Given the description of an element on the screen output the (x, y) to click on. 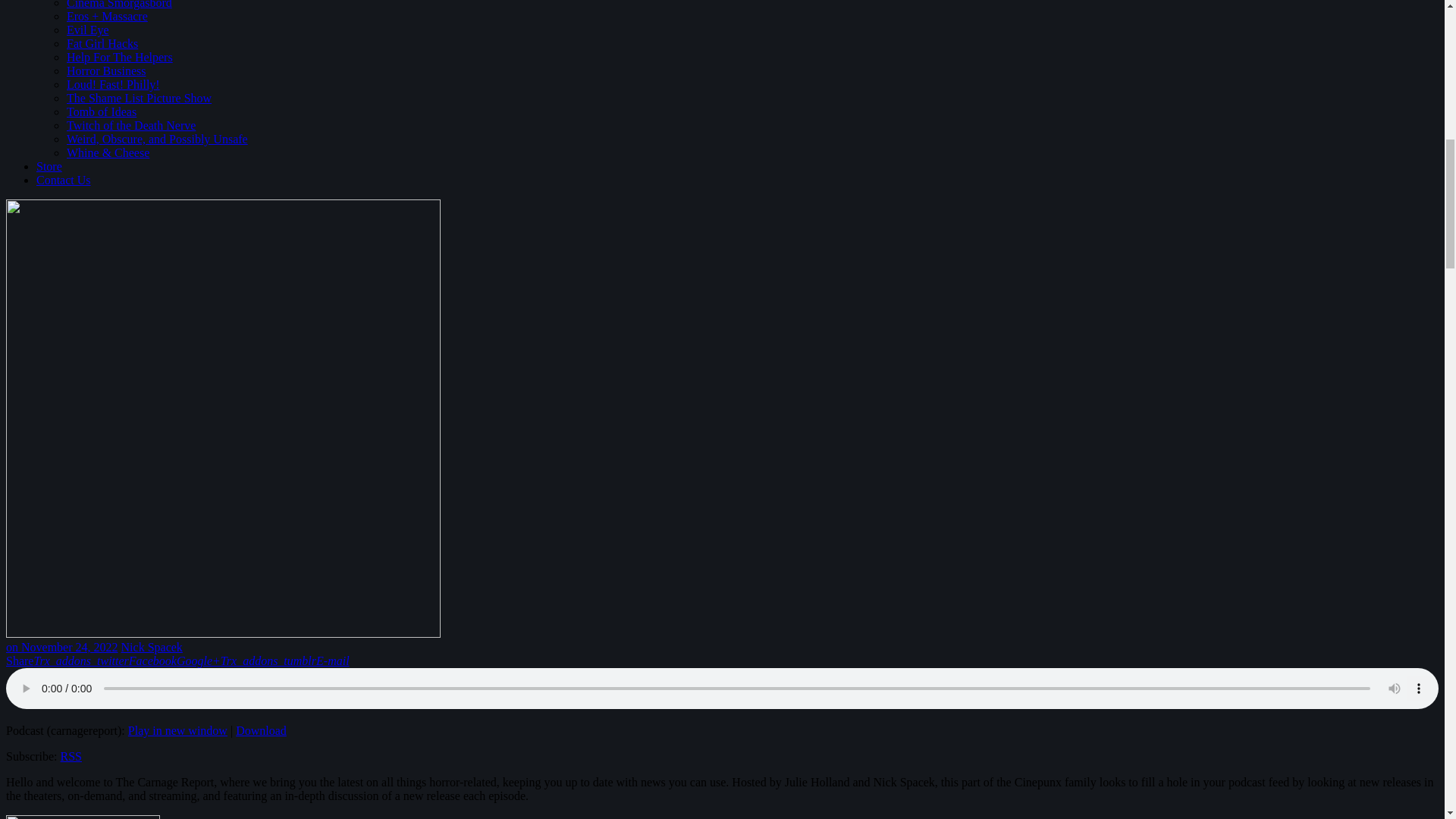
Download (260, 730)
Play in new window (177, 730)
Subscribe via RSS (71, 756)
